Given the description of an element on the screen output the (x, y) to click on. 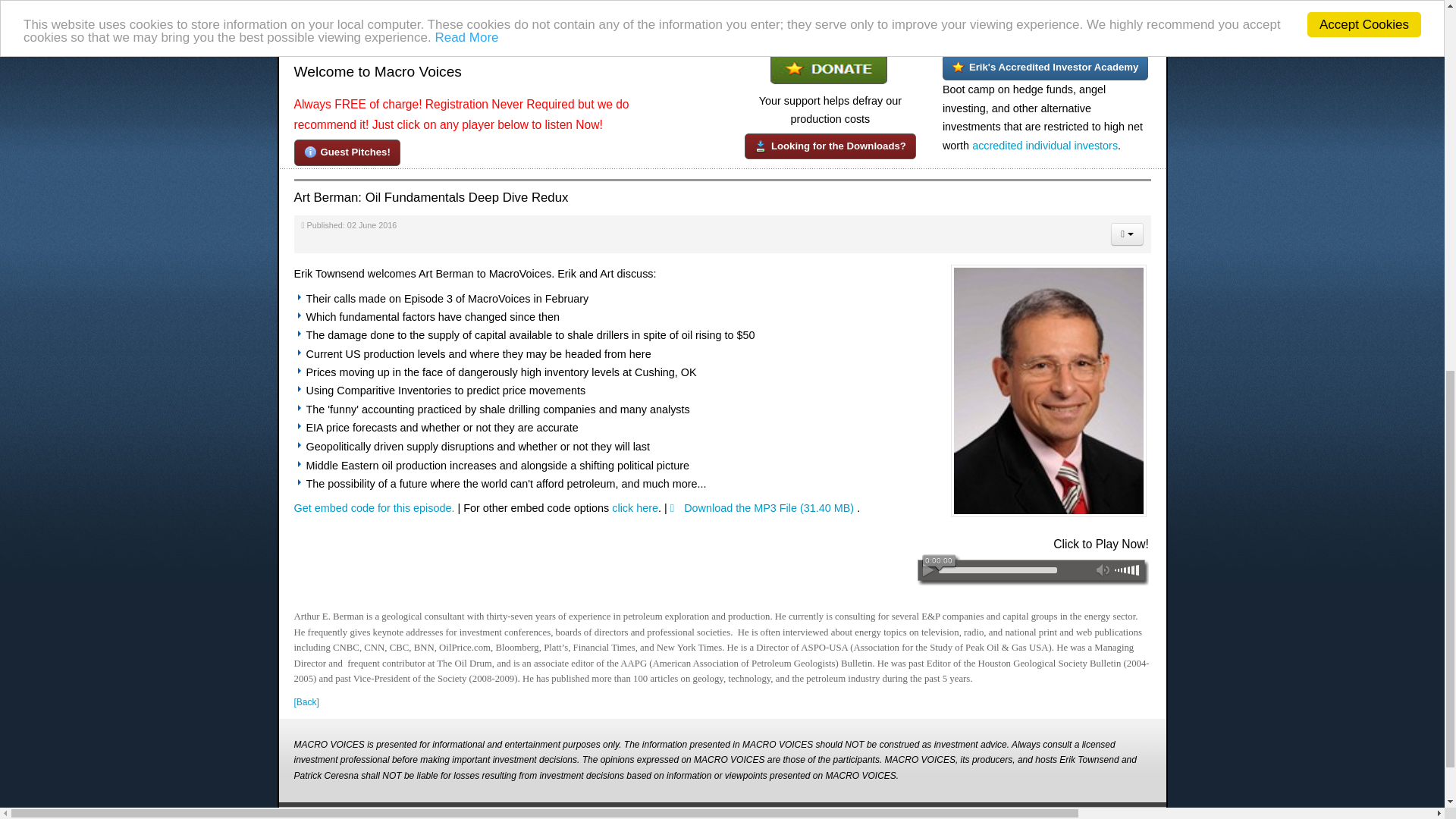
Get embed code for this episode. (374, 508)
click here (634, 508)
Looking for the Downloads? (829, 145)
PayPal - The safer, easier way to pay online! (828, 69)
Guest Pitches! (347, 152)
accredited individual investors (1045, 145)
Guest Pitches! (347, 152)
Erik's Accredited Investor Academy (1045, 67)
